Given the description of an element on the screen output the (x, y) to click on. 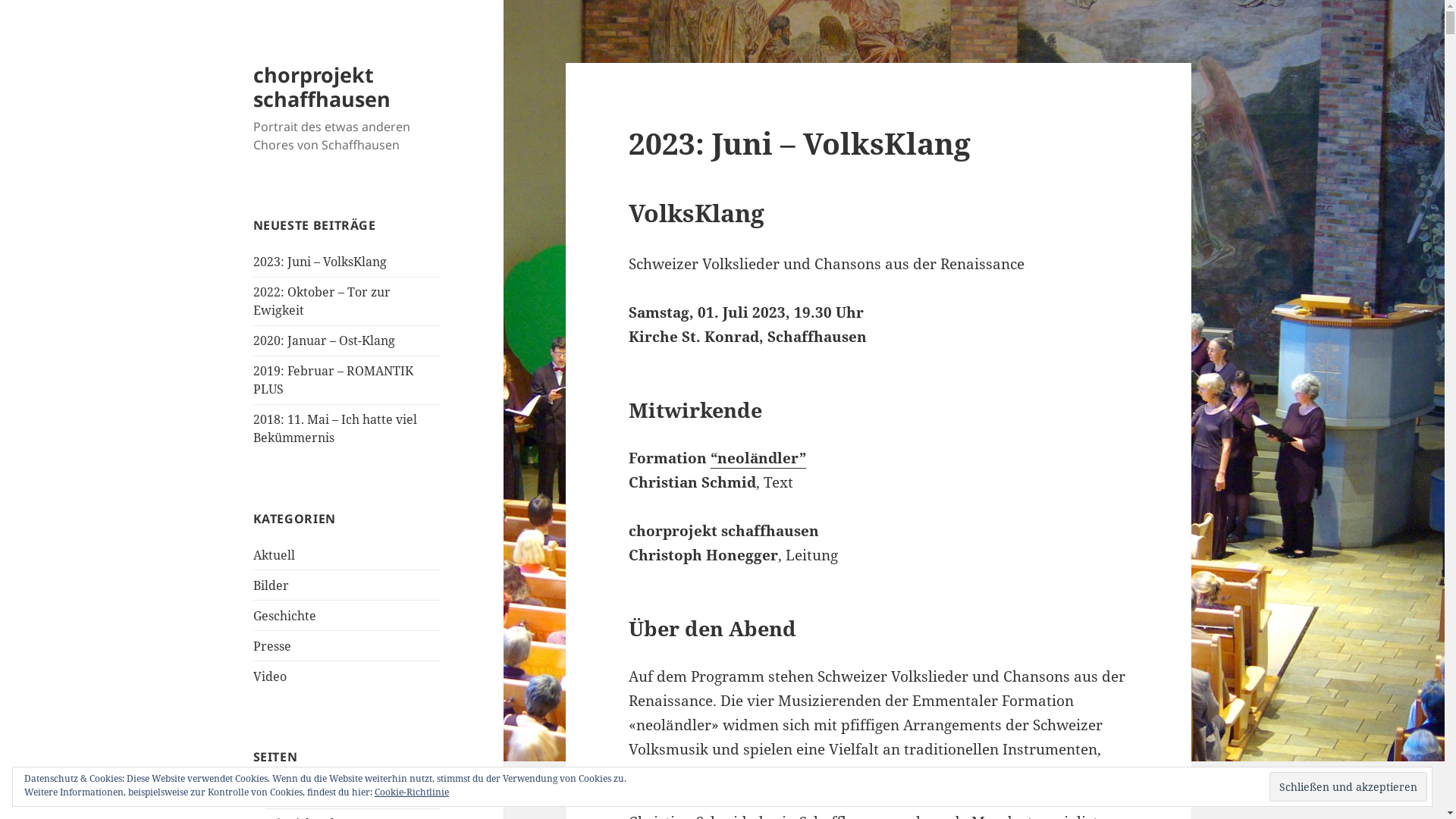
Cookie-Richtlinie Element type: text (411, 791)
Bilder Element type: text (270, 585)
Geschichte Element type: text (284, 615)
Presse Element type: text (272, 645)
chorprojekt schaffhausen Element type: text (321, 86)
Video Element type: text (269, 676)
Aktuell Element type: text (273, 554)
